Given the description of an element on the screen output the (x, y) to click on. 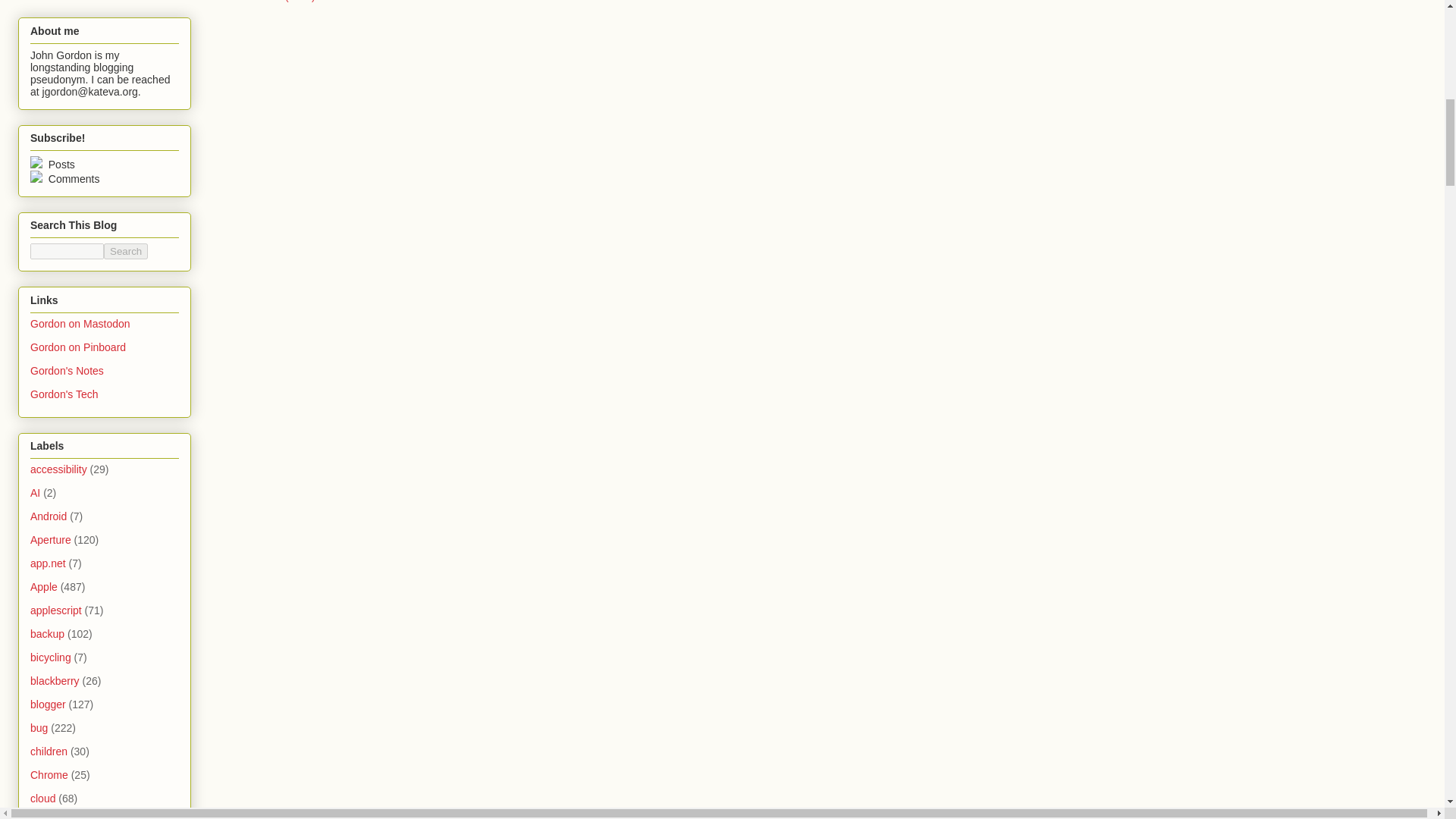
Gordon's Notes (66, 370)
Gordon on Pinboard (77, 346)
applescript (55, 610)
Gordon on Mastodon (80, 323)
Search (125, 251)
backup (47, 633)
Aperture (50, 539)
app.net (47, 563)
Search (125, 251)
Gordon's Tech (64, 394)
search (125, 251)
Apple (44, 586)
Android (48, 516)
accessibility (58, 469)
search (66, 251)
